Given the description of an element on the screen output the (x, y) to click on. 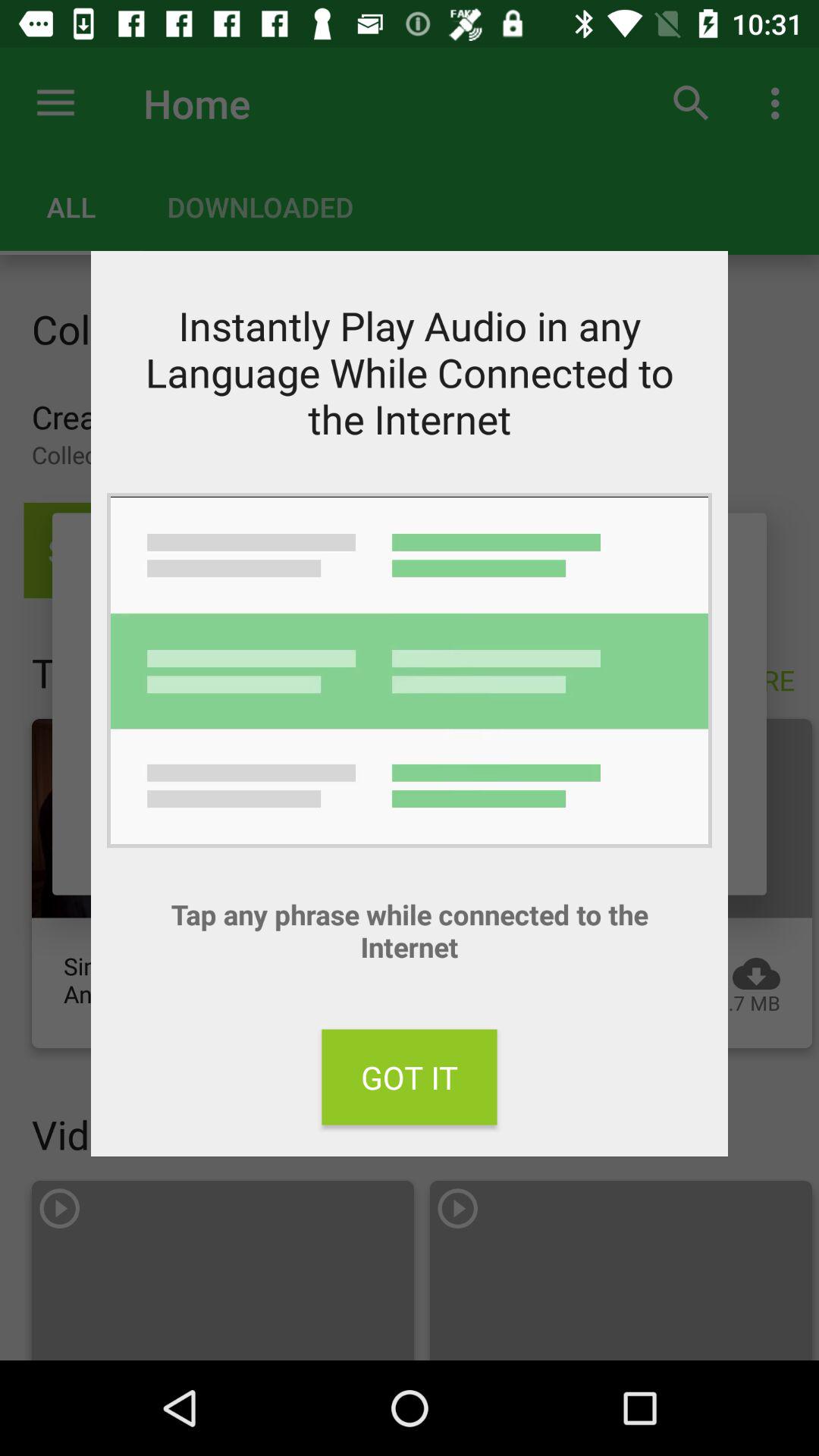
swipe to the got it item (409, 1076)
